Given the description of an element on the screen output the (x, y) to click on. 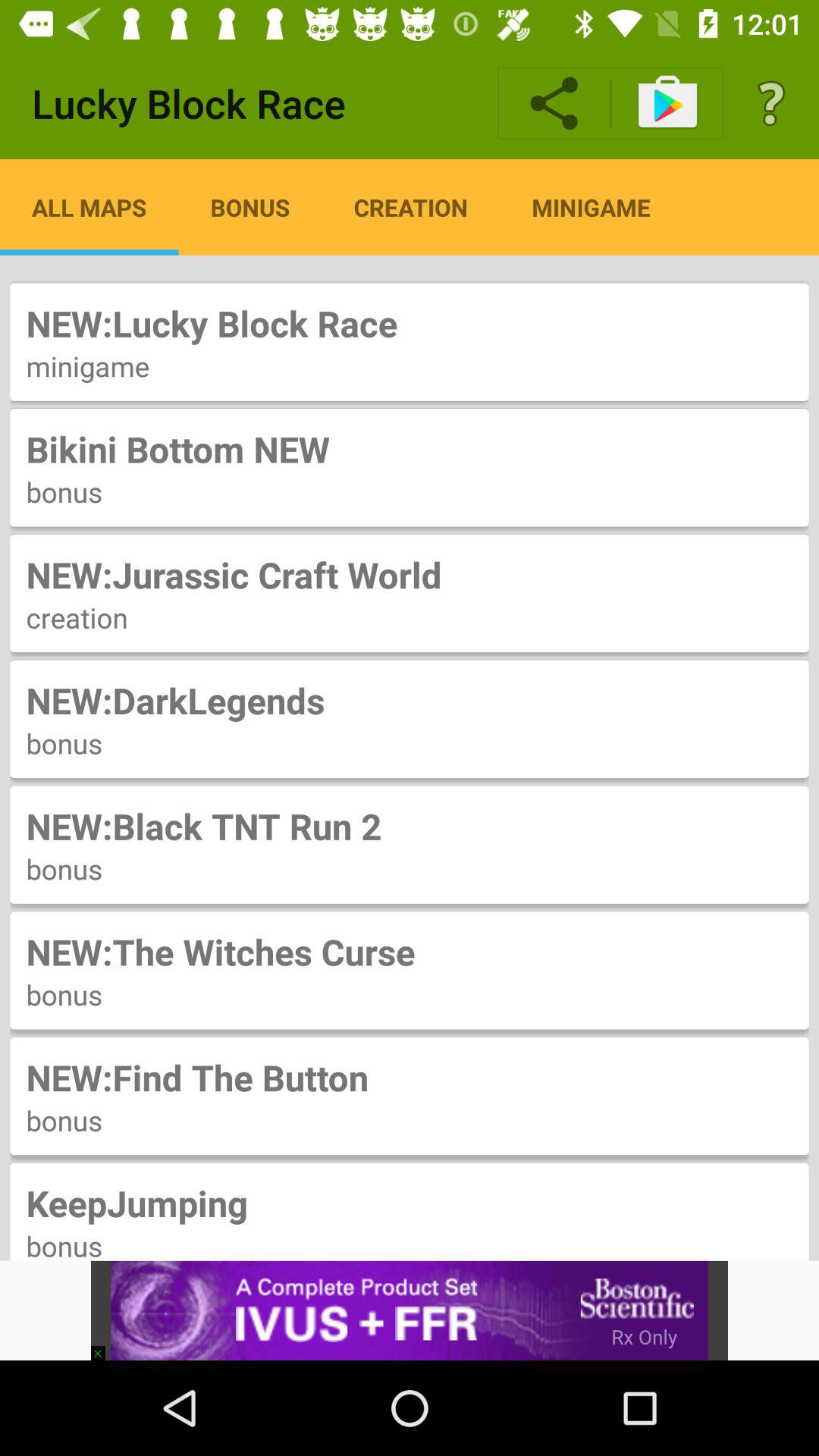
tap the all maps icon (89, 207)
